Given the description of an element on the screen output the (x, y) to click on. 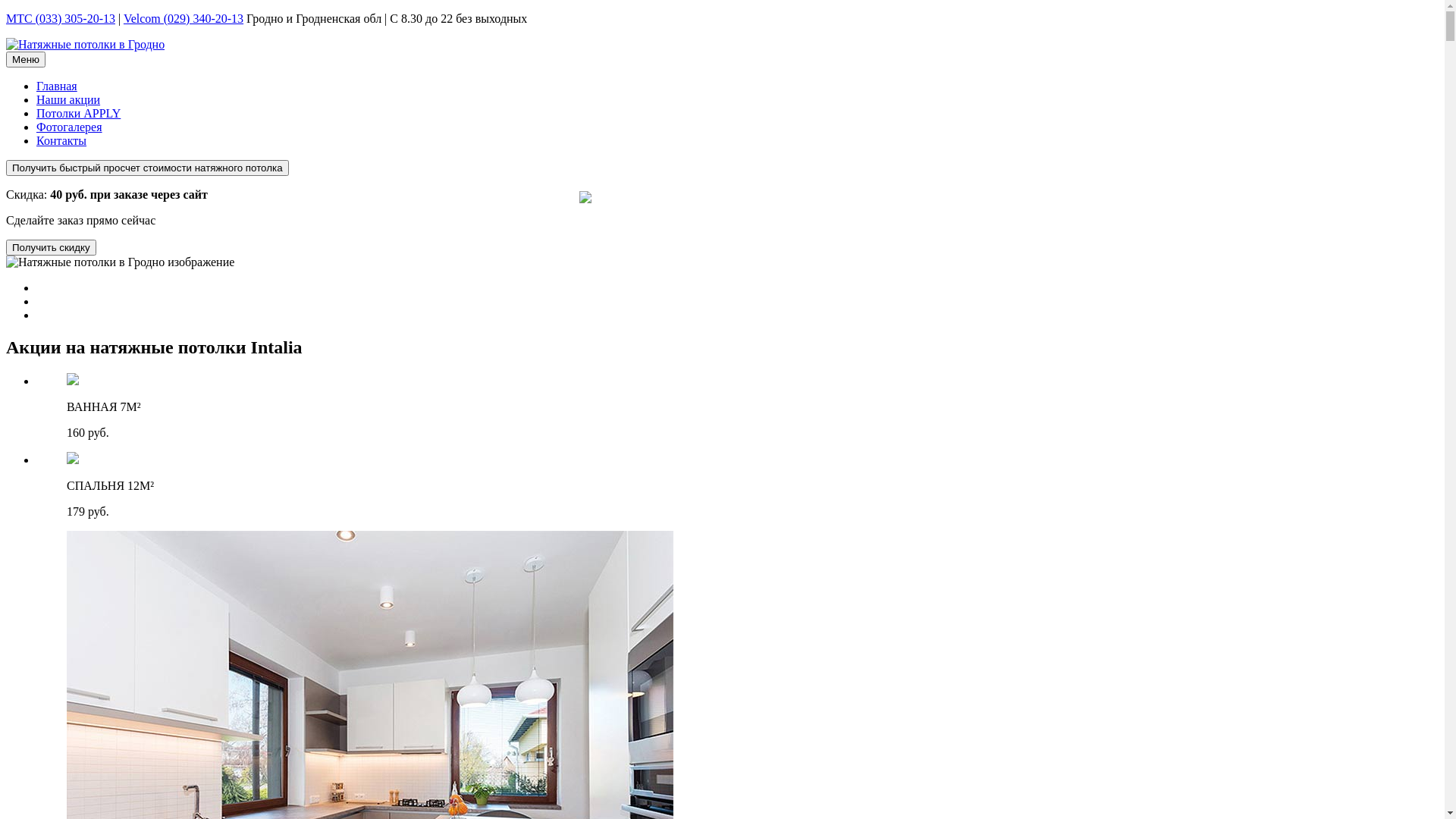
MTC (033) 305-20-13 Element type: text (60, 18)
Velcom (029) 340-20-13 Element type: text (183, 18)
